Given the description of an element on the screen output the (x, y) to click on. 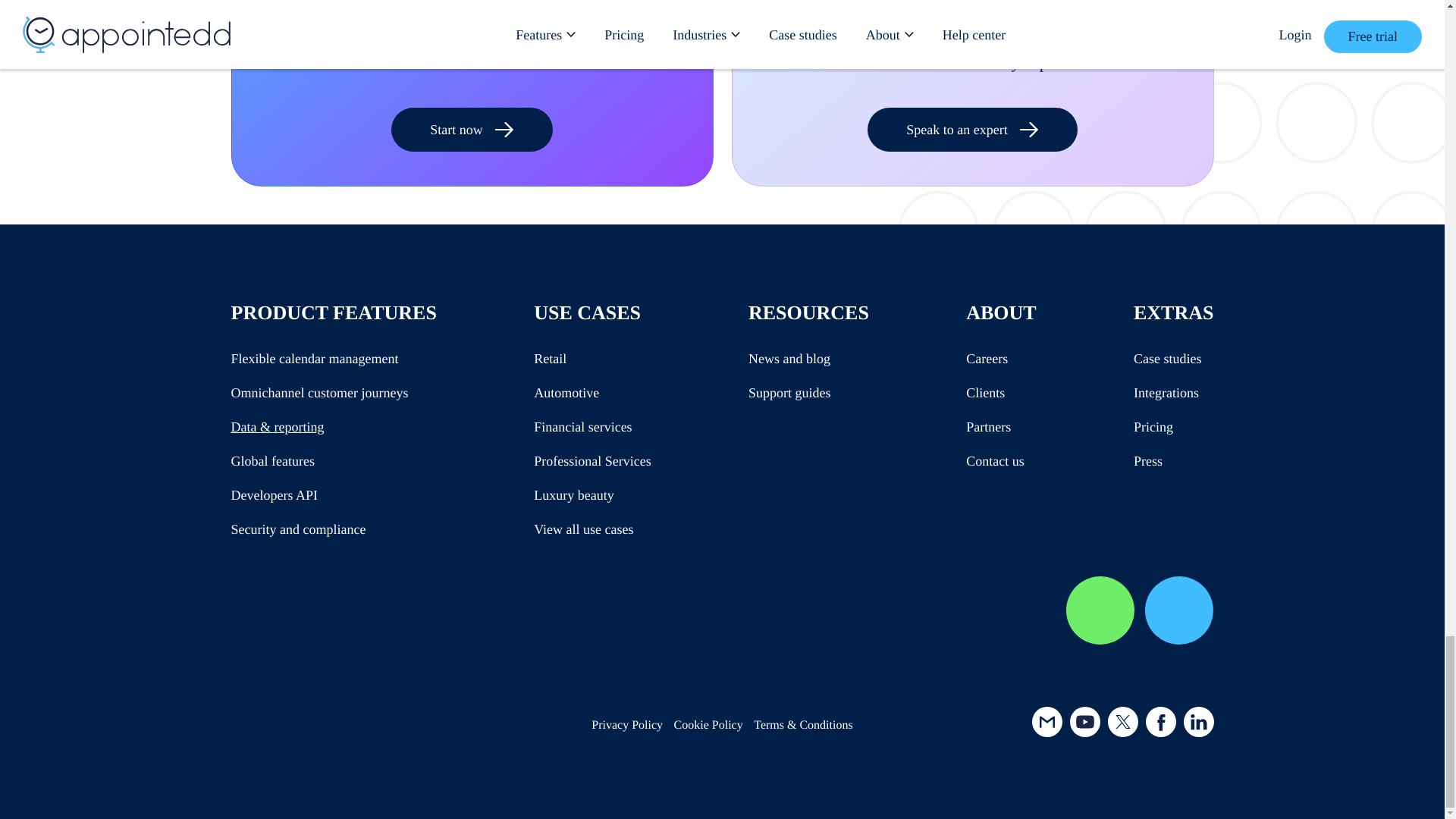
Speak to an expert (972, 129)
Flexible calendar management (313, 358)
Go back to the home page (321, 725)
Start now (472, 129)
